Given the description of an element on the screen output the (x, y) to click on. 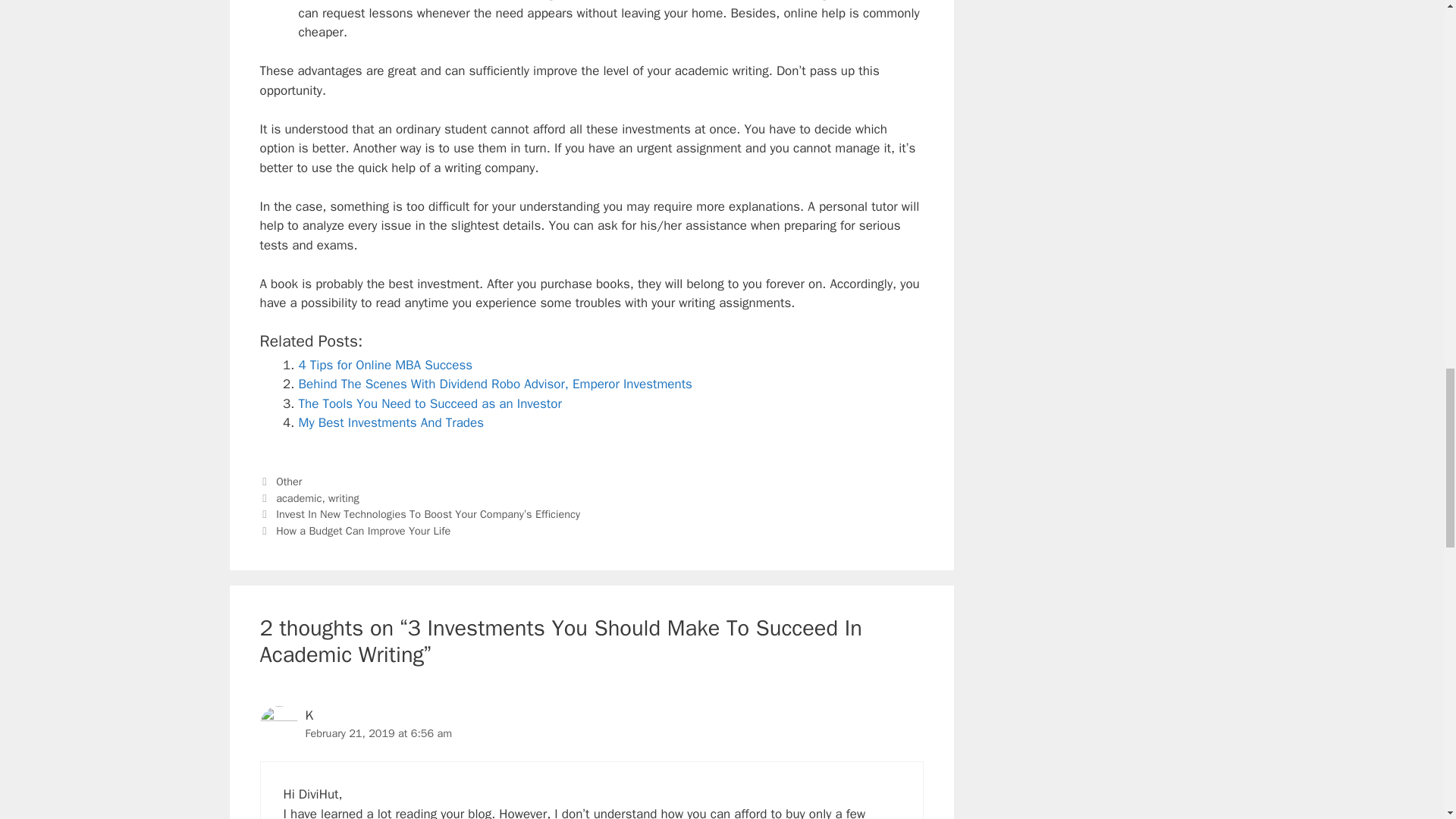
The Tools You Need to Succeed as an Investor (430, 403)
February 21, 2019 at 6:56 am (377, 733)
writing (344, 498)
academic (298, 498)
4 Tips for Online MBA Success (385, 365)
My Best Investments And Trades (391, 422)
4 Tips for Online MBA Success (385, 365)
How a Budget Can Improve Your Life (362, 530)
